Given the description of an element on the screen output the (x, y) to click on. 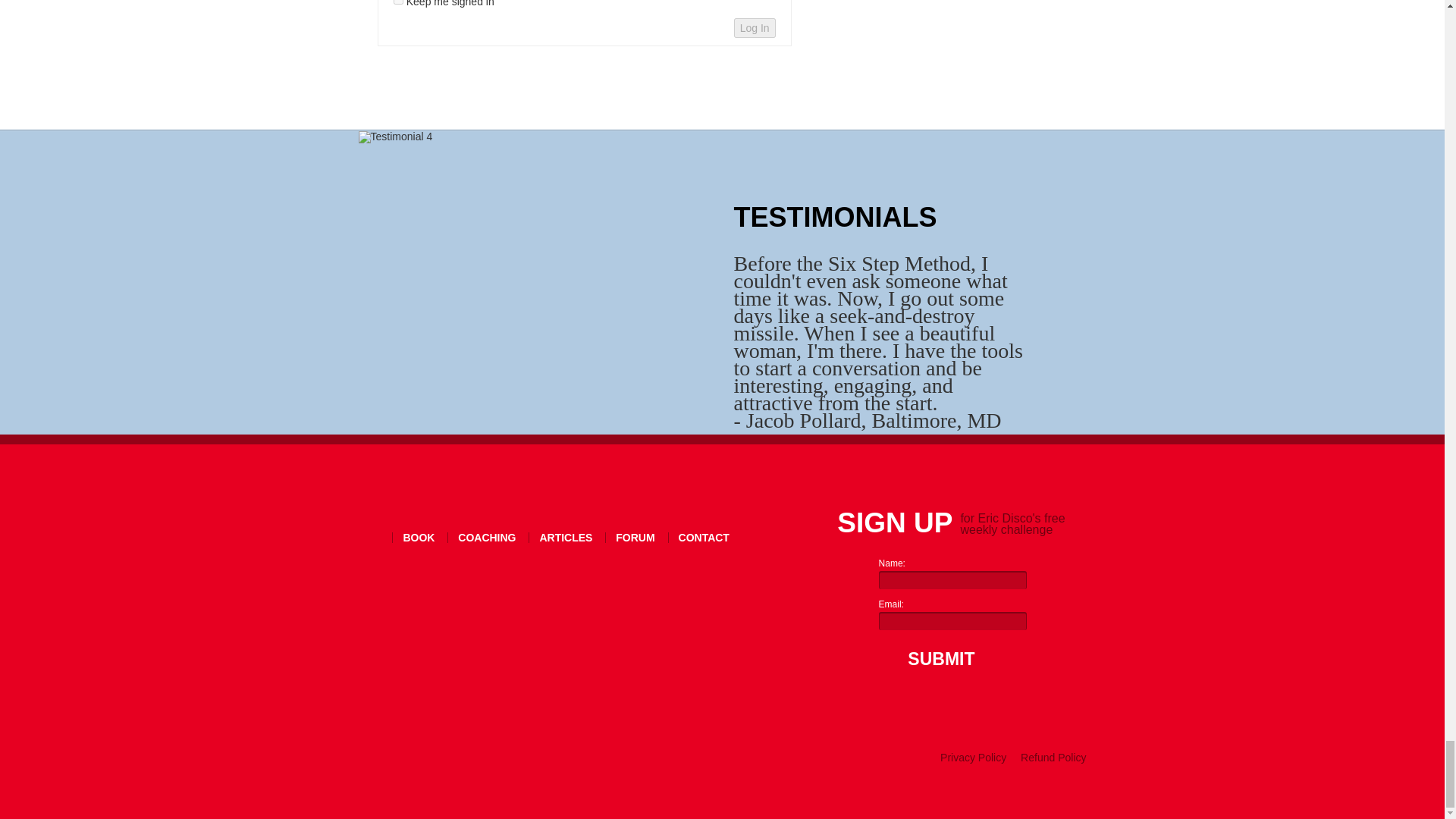
forever (398, 2)
Submit (936, 658)
